Given the description of an element on the screen output the (x, y) to click on. 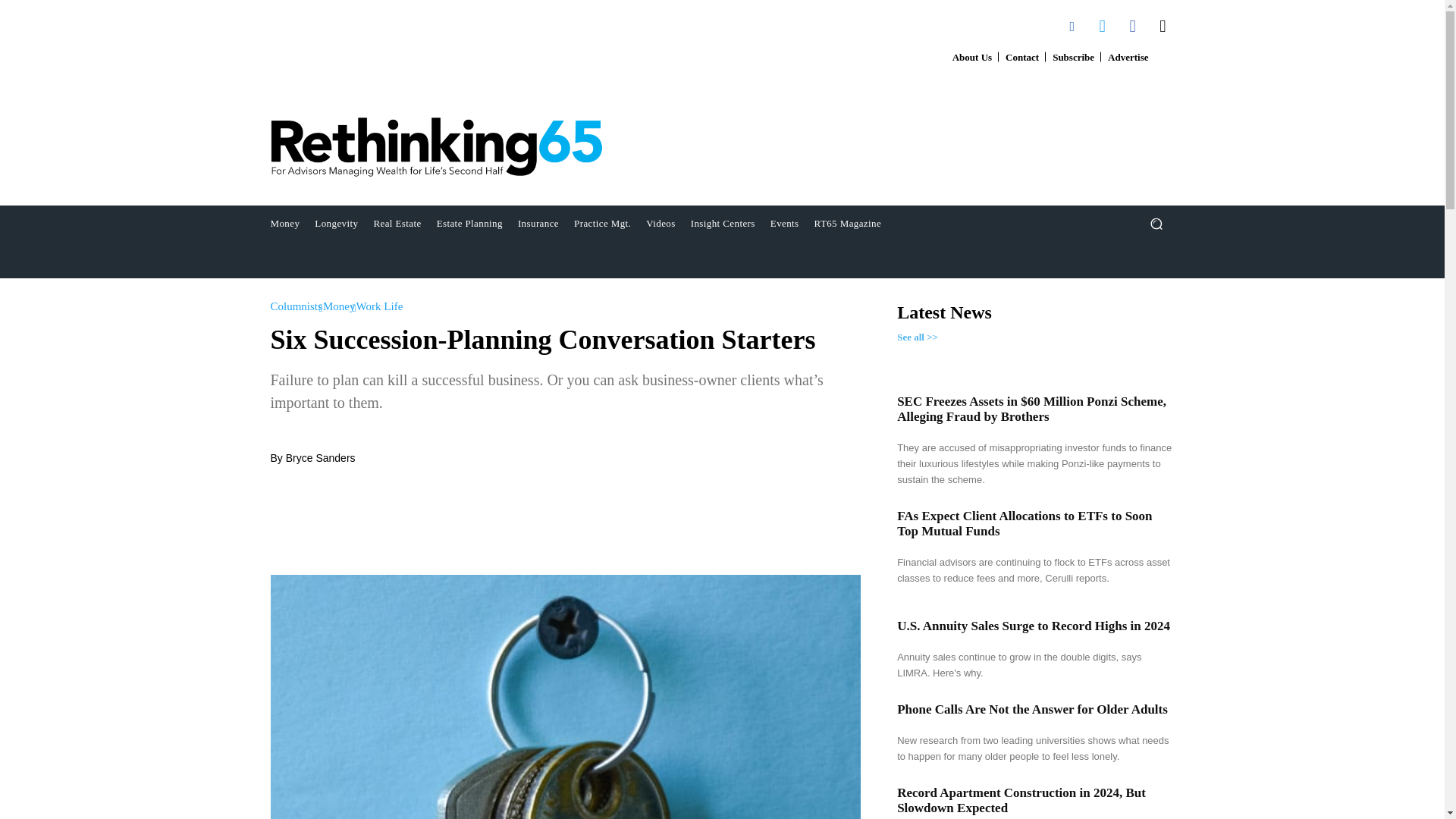
Twitter (1101, 26)
Linkedin (1072, 26)
Subscribe To Our Newsletter (1072, 56)
Facebook (1132, 26)
Instagram (1162, 26)
